Given the description of an element on the screen output the (x, y) to click on. 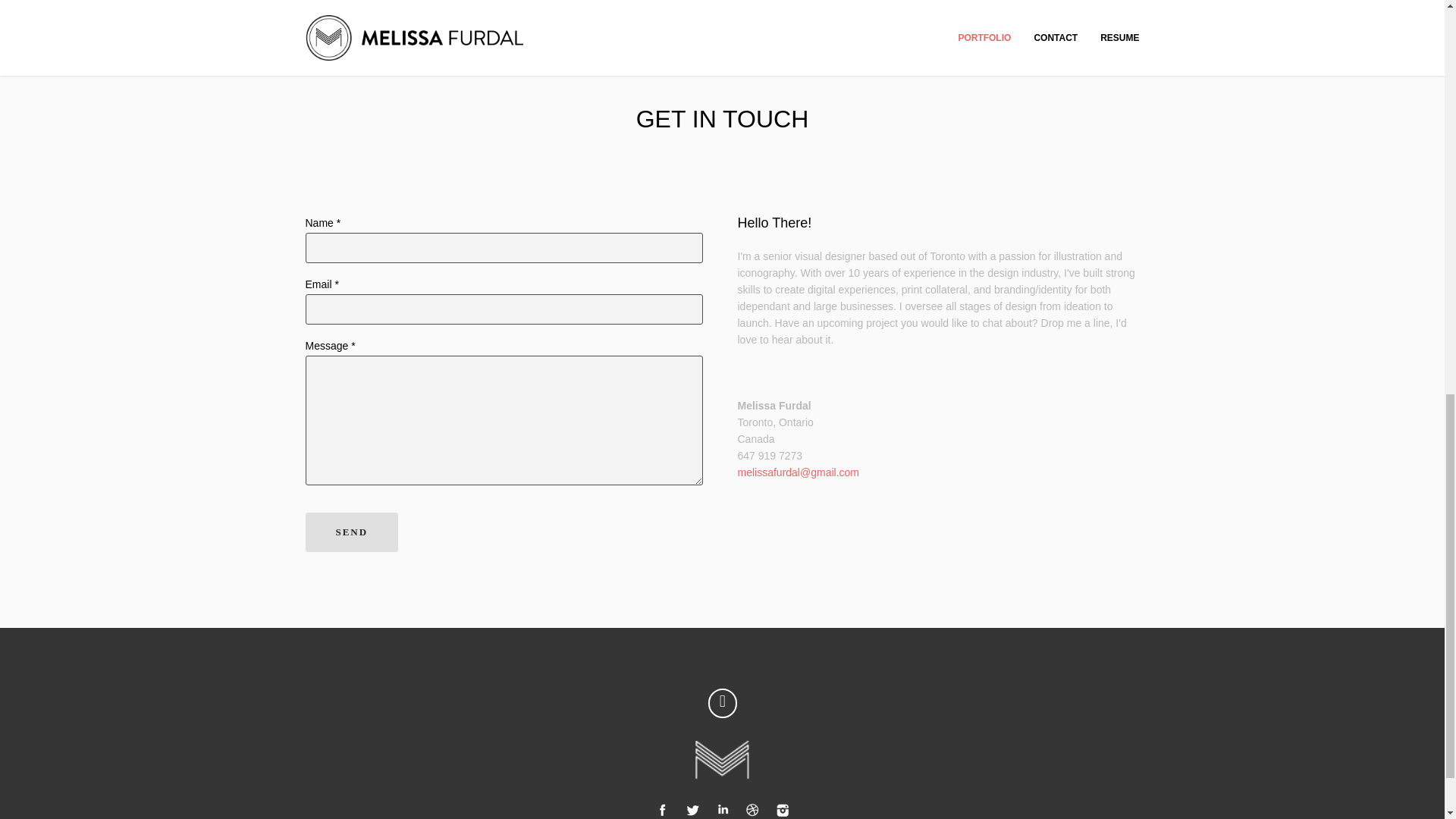
Linkedin (722, 808)
Instagram (782, 808)
Send (350, 532)
Dribble (751, 808)
Tweet (692, 808)
Facebook (661, 808)
Send (350, 532)
